Given the description of an element on the screen output the (x, y) to click on. 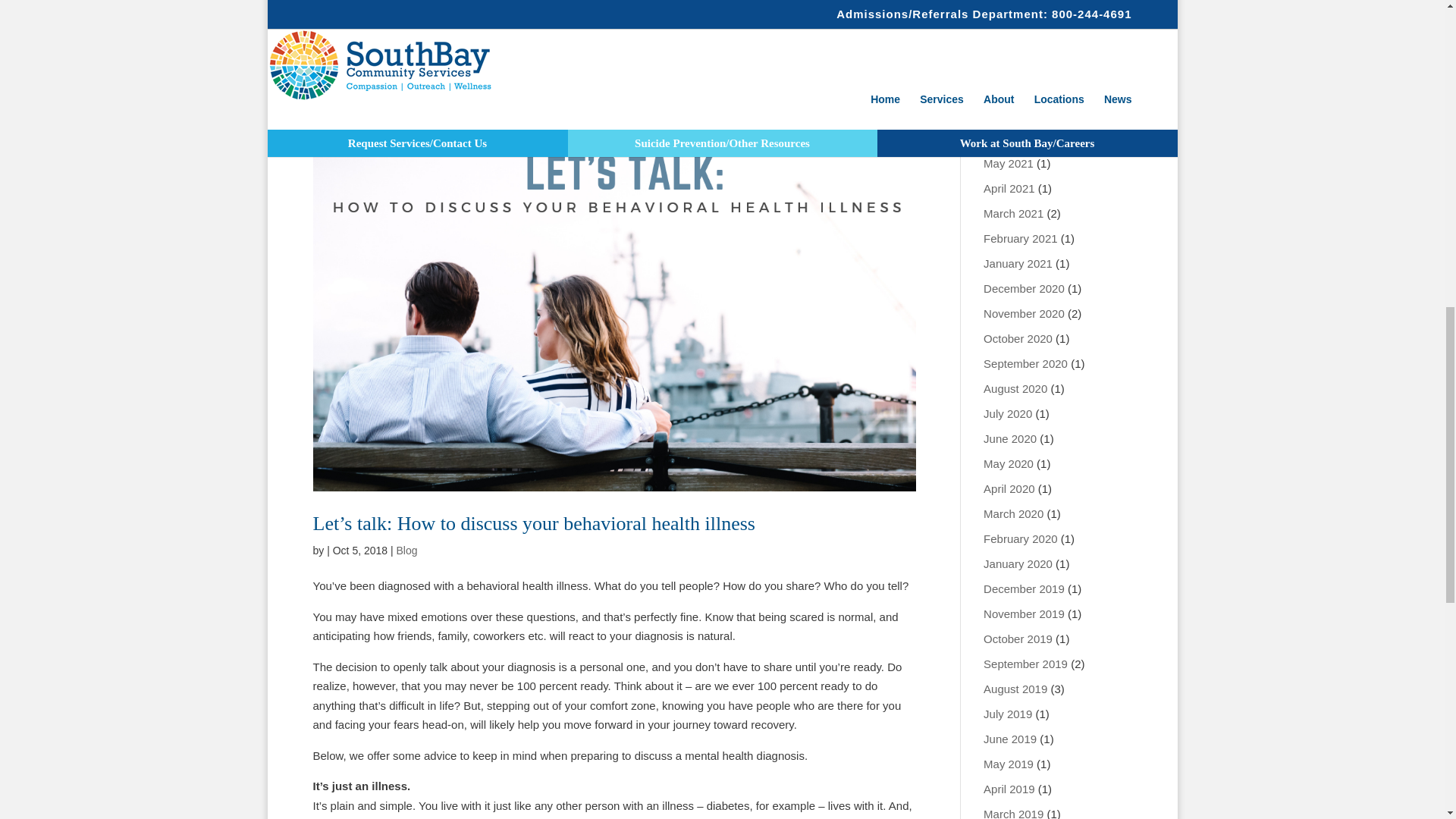
October 2021 (1018, 38)
Blog (406, 550)
November 2021 (1024, 11)
